Given the description of an element on the screen output the (x, y) to click on. 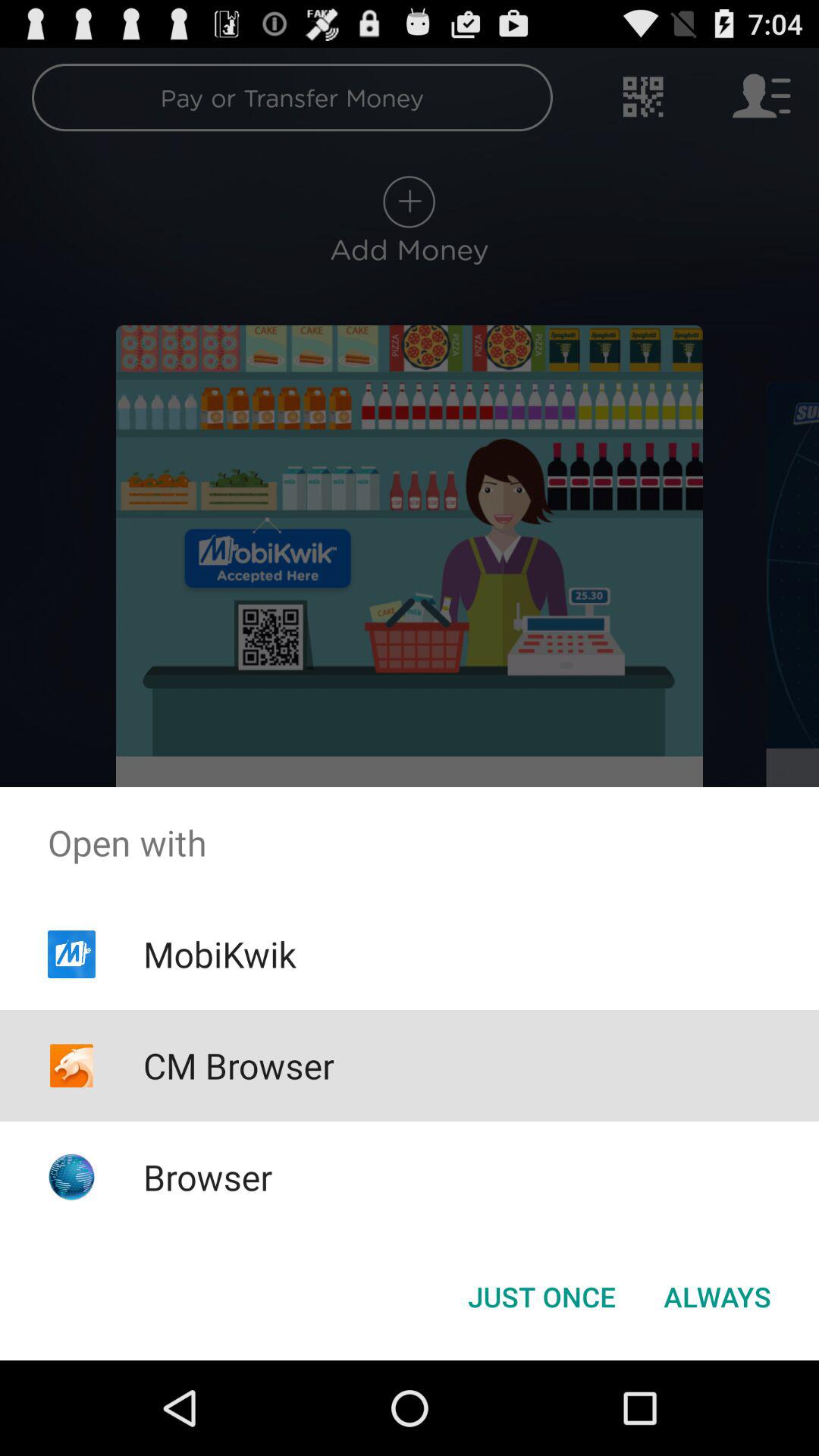
scroll to the just once (541, 1296)
